Given the description of an element on the screen output the (x, y) to click on. 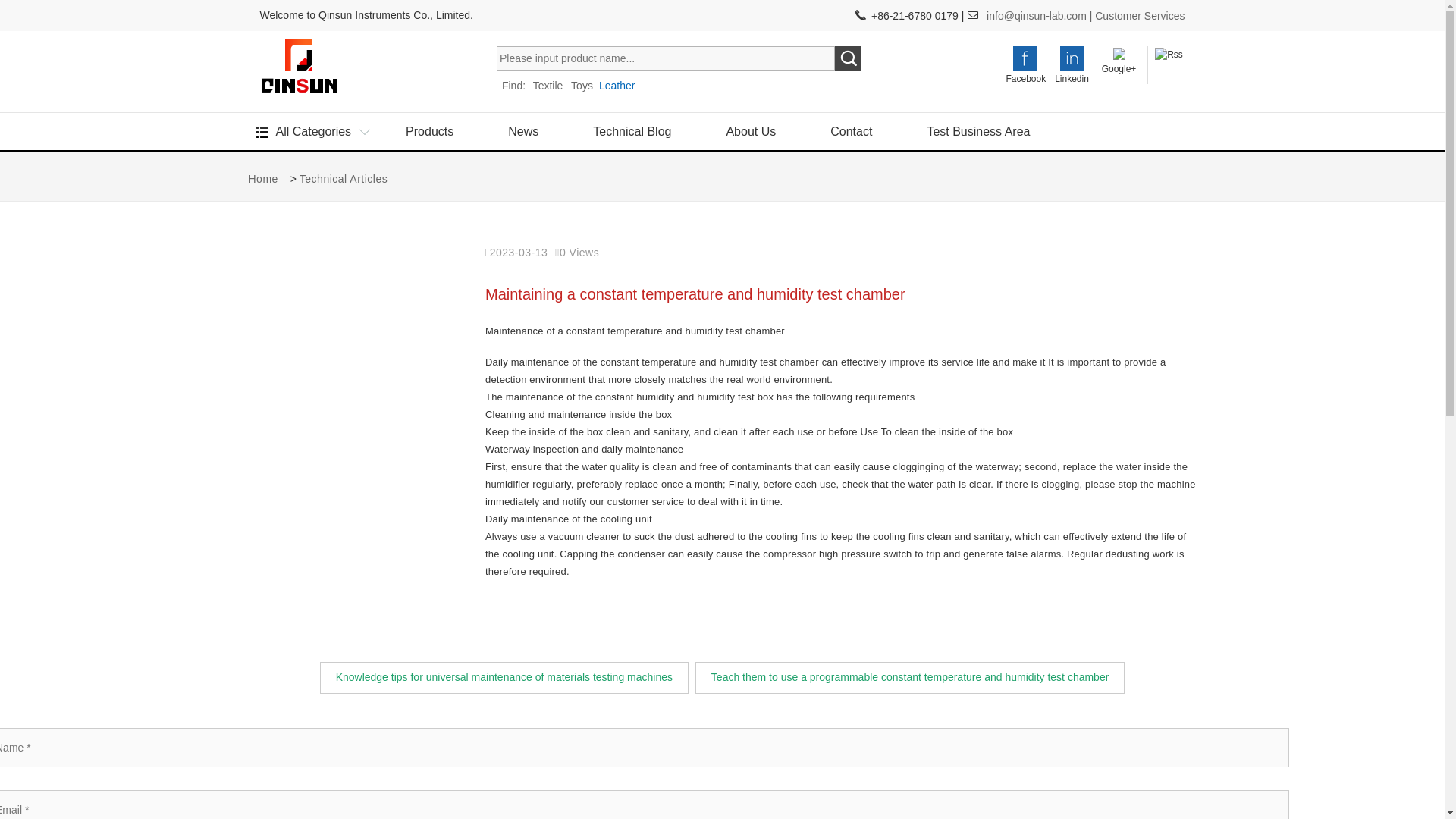
Facebook (1025, 67)
Customer Services (1139, 15)
Linkedin (1071, 67)
Rss (1168, 52)
Leather (616, 85)
All Categories (313, 131)
